Given the description of an element on the screen output the (x, y) to click on. 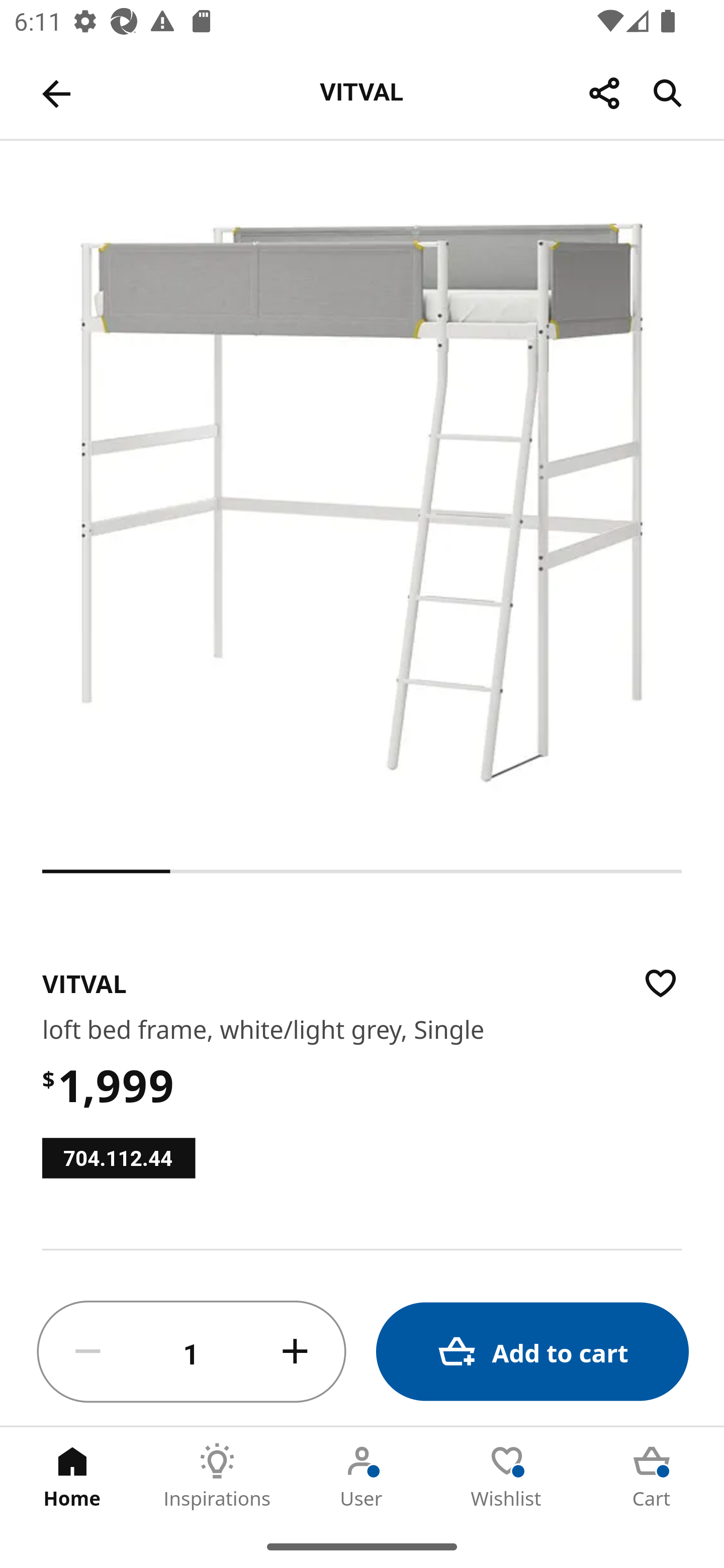
Add to cart (531, 1352)
1 (191, 1352)
Home
Tab 1 of 5 (72, 1476)
Inspirations
Tab 2 of 5 (216, 1476)
User
Tab 3 of 5 (361, 1476)
Wishlist
Tab 4 of 5 (506, 1476)
Cart
Tab 5 of 5 (651, 1476)
